Given the description of an element on the screen output the (x, y) to click on. 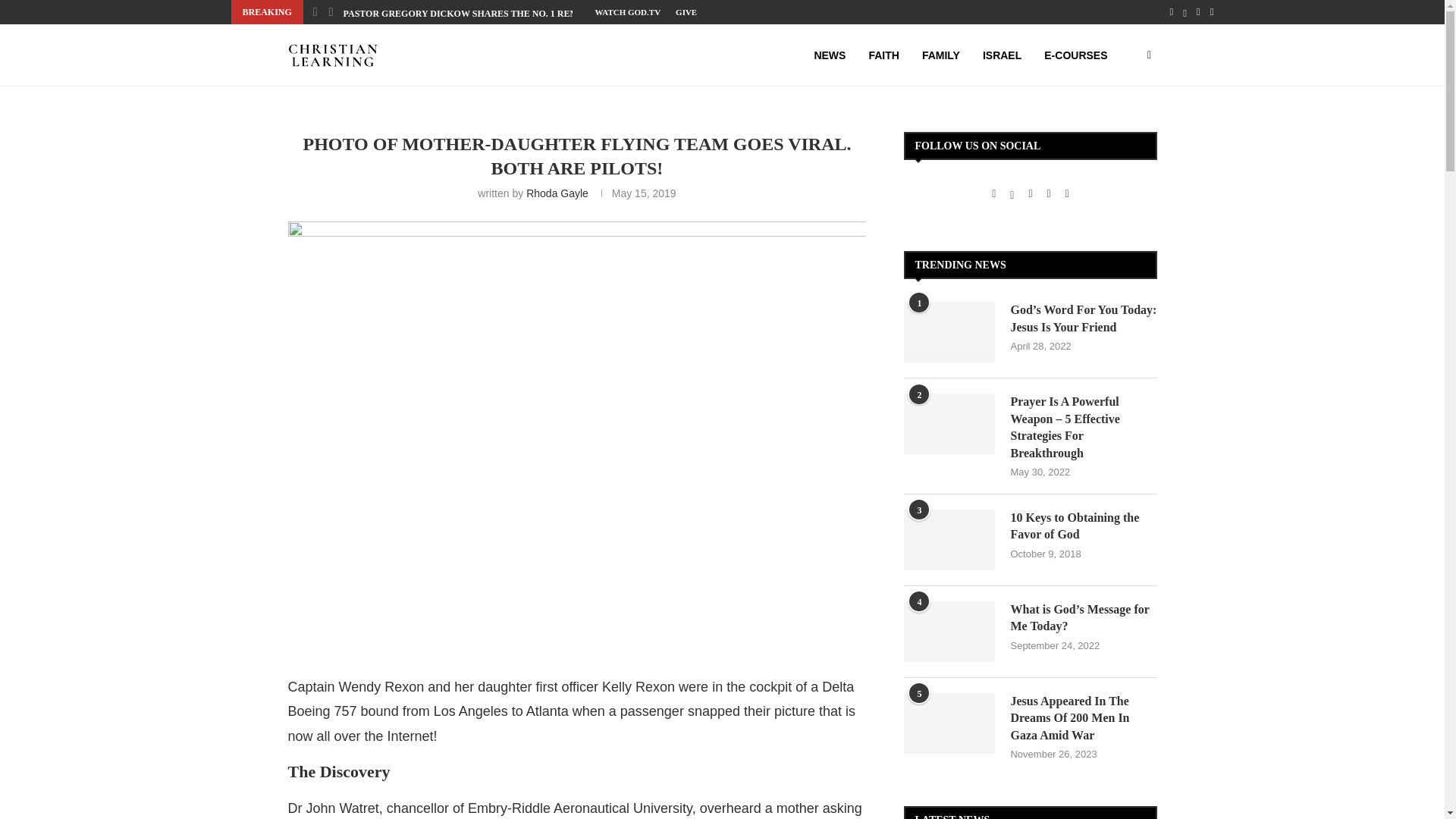
WATCH GOD.TV (627, 12)
Rhoda Gayle (556, 193)
E-COURSES (1074, 55)
